Given the description of an element on the screen output the (x, y) to click on. 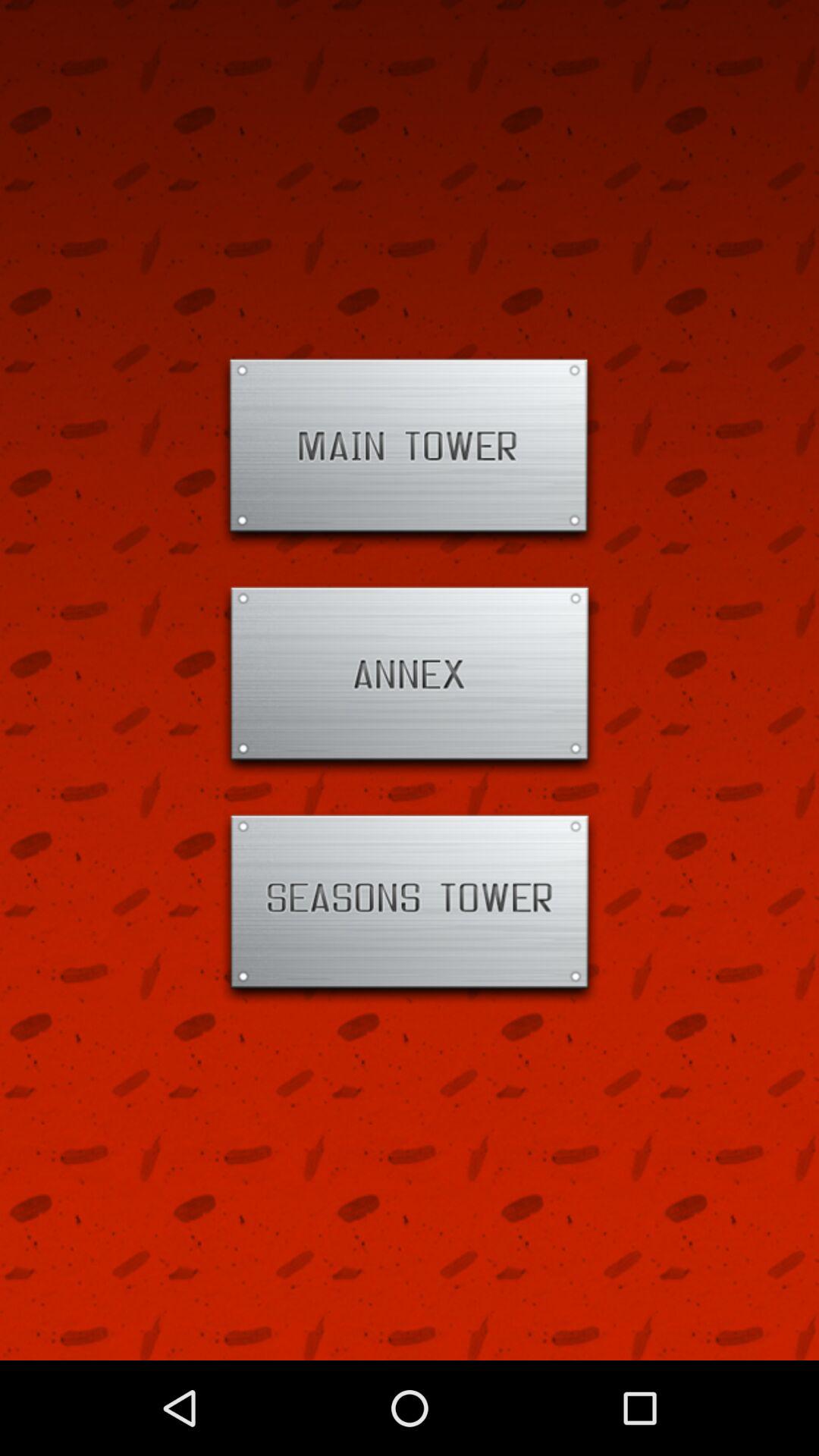
option to select seasons tower (409, 908)
